Given the description of an element on the screen output the (x, y) to click on. 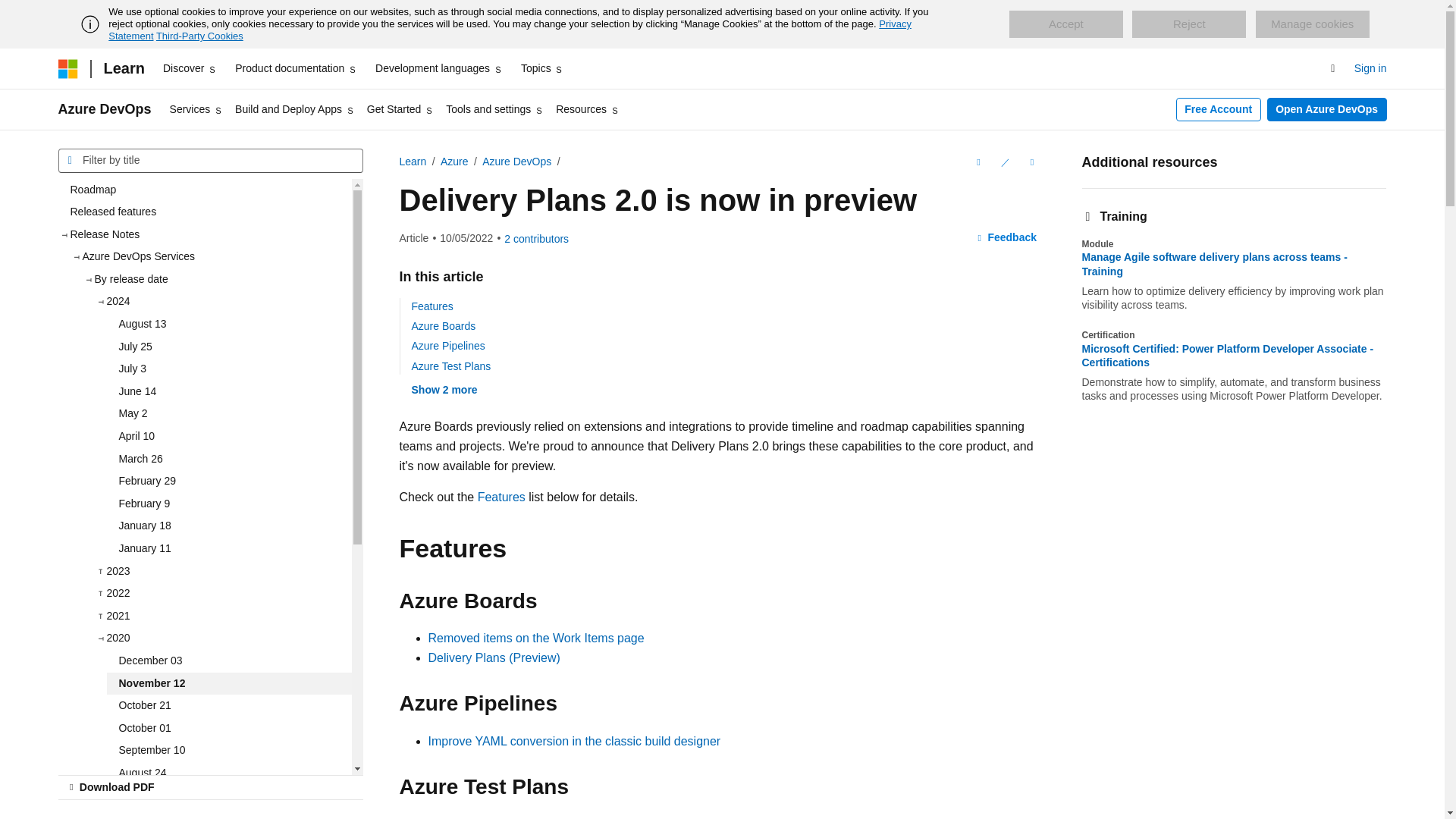
Product documentation (295, 68)
Development languages (438, 68)
Skip to main content (11, 11)
Accept (1065, 23)
Learn (123, 68)
Services (196, 109)
Sign in (1370, 68)
Build and Deploy Apps (294, 109)
Topics (542, 68)
Reject (1189, 23)
